Given the description of an element on the screen output the (x, y) to click on. 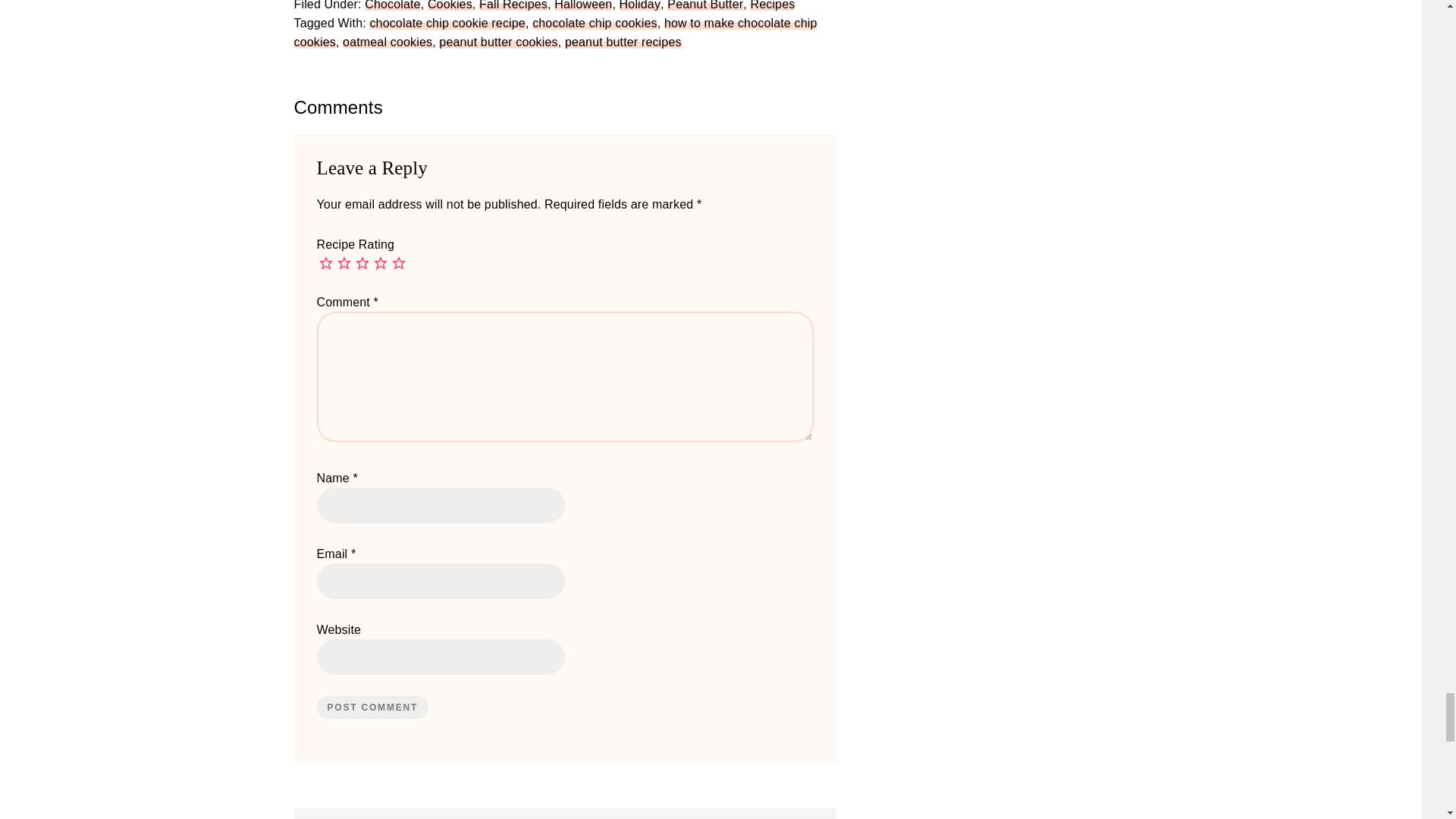
Post Comment (373, 707)
